Given the description of an element on the screen output the (x, y) to click on. 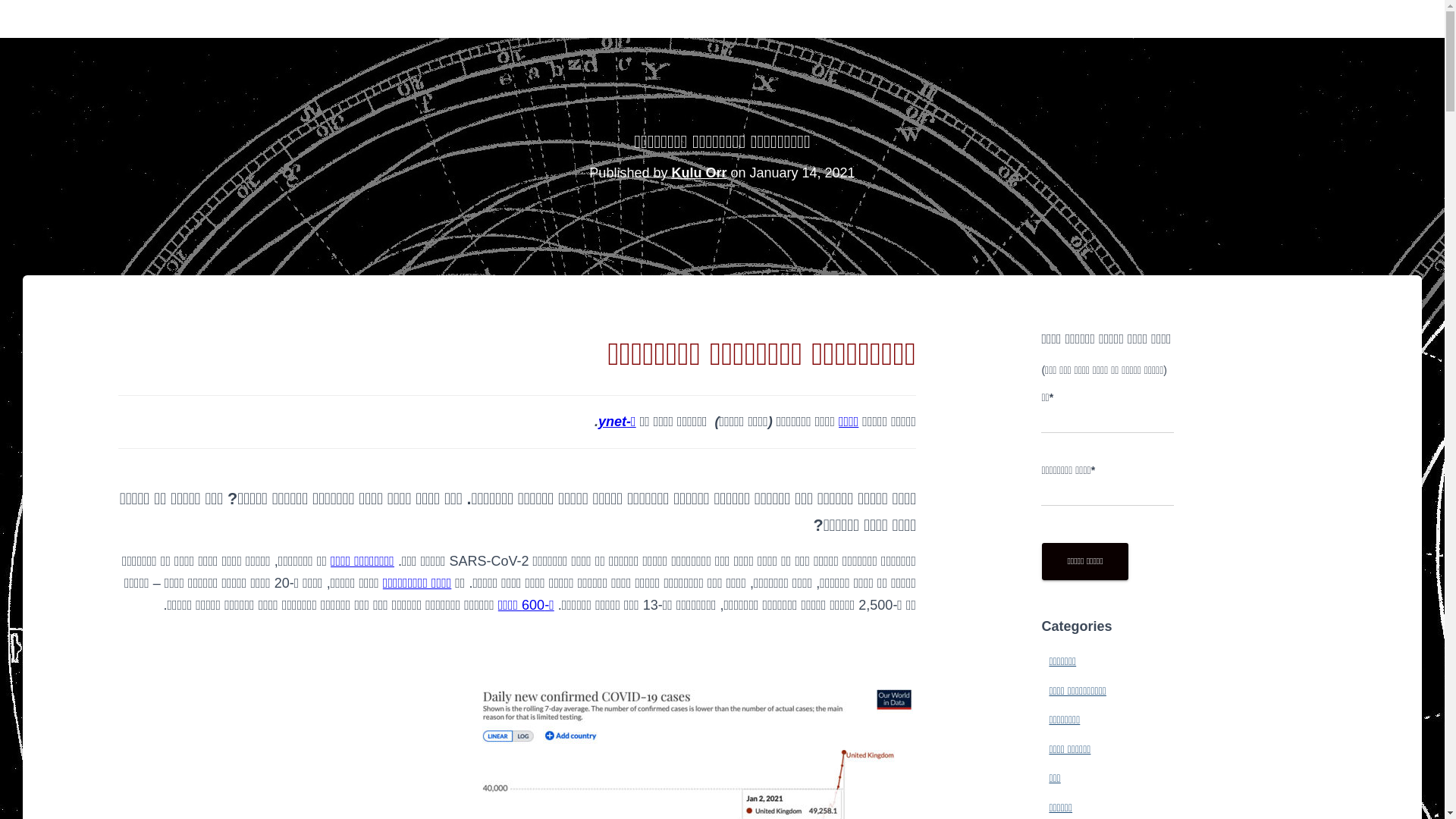
Kulu Orr Element type: text (698, 172)
